Given the description of an element on the screen output the (x, y) to click on. 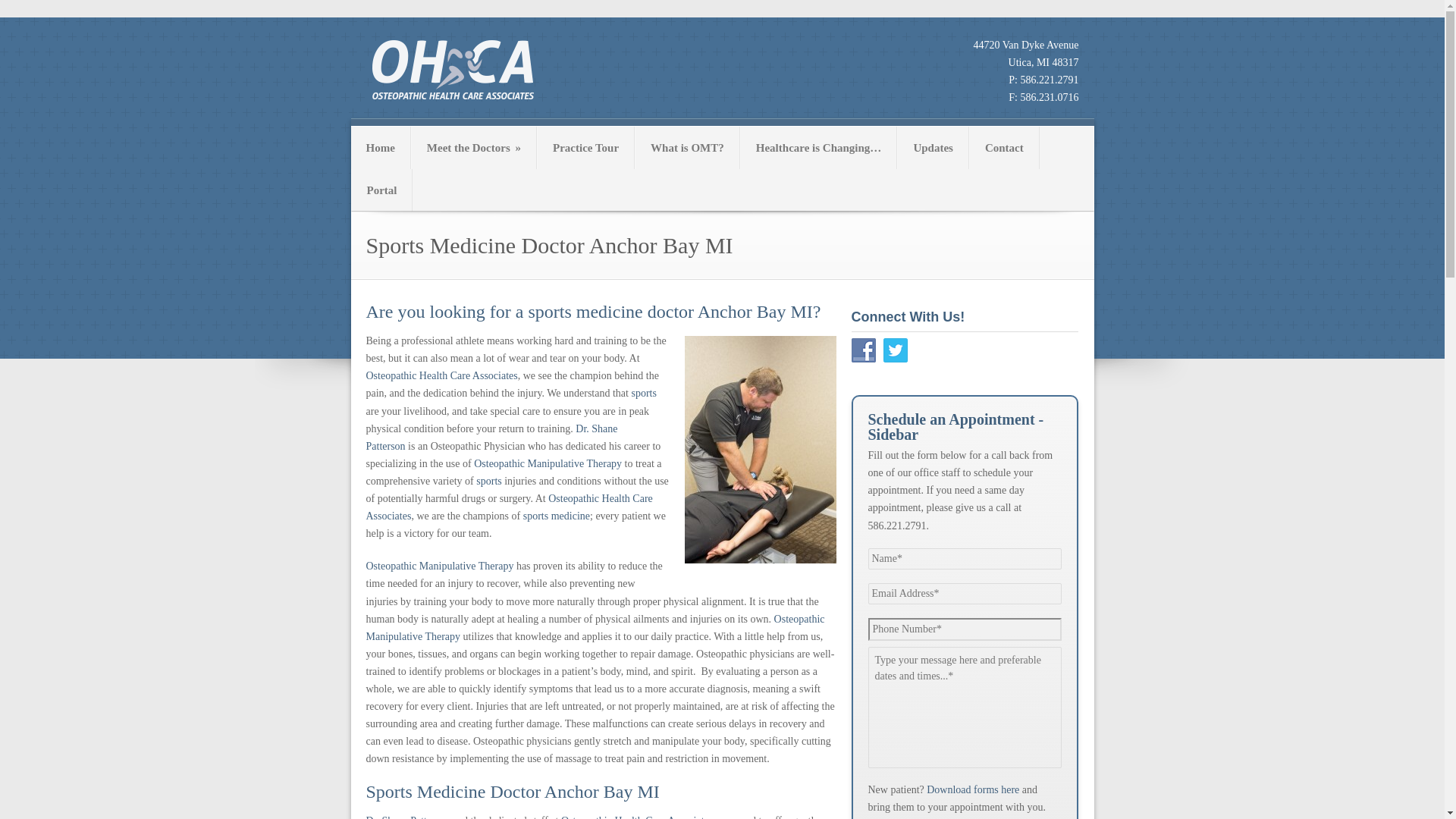
sports (643, 392)
Osteopathic Health Care Associates (440, 375)
Osteopathic Manipulative Therapy (439, 565)
Dr. Shane Patterson (491, 437)
Follow Us on Twitter (894, 350)
Updates (933, 147)
586.231.0716 (1049, 97)
What is OMT? (686, 147)
Contact (1004, 147)
sports medicine (555, 515)
Dr. Shane Patterson (407, 816)
586.221.2791 (1049, 79)
Osteopathic Manipulative Therapy (594, 627)
Practice Tour (585, 147)
sports (488, 480)
